Given the description of an element on the screen output the (x, y) to click on. 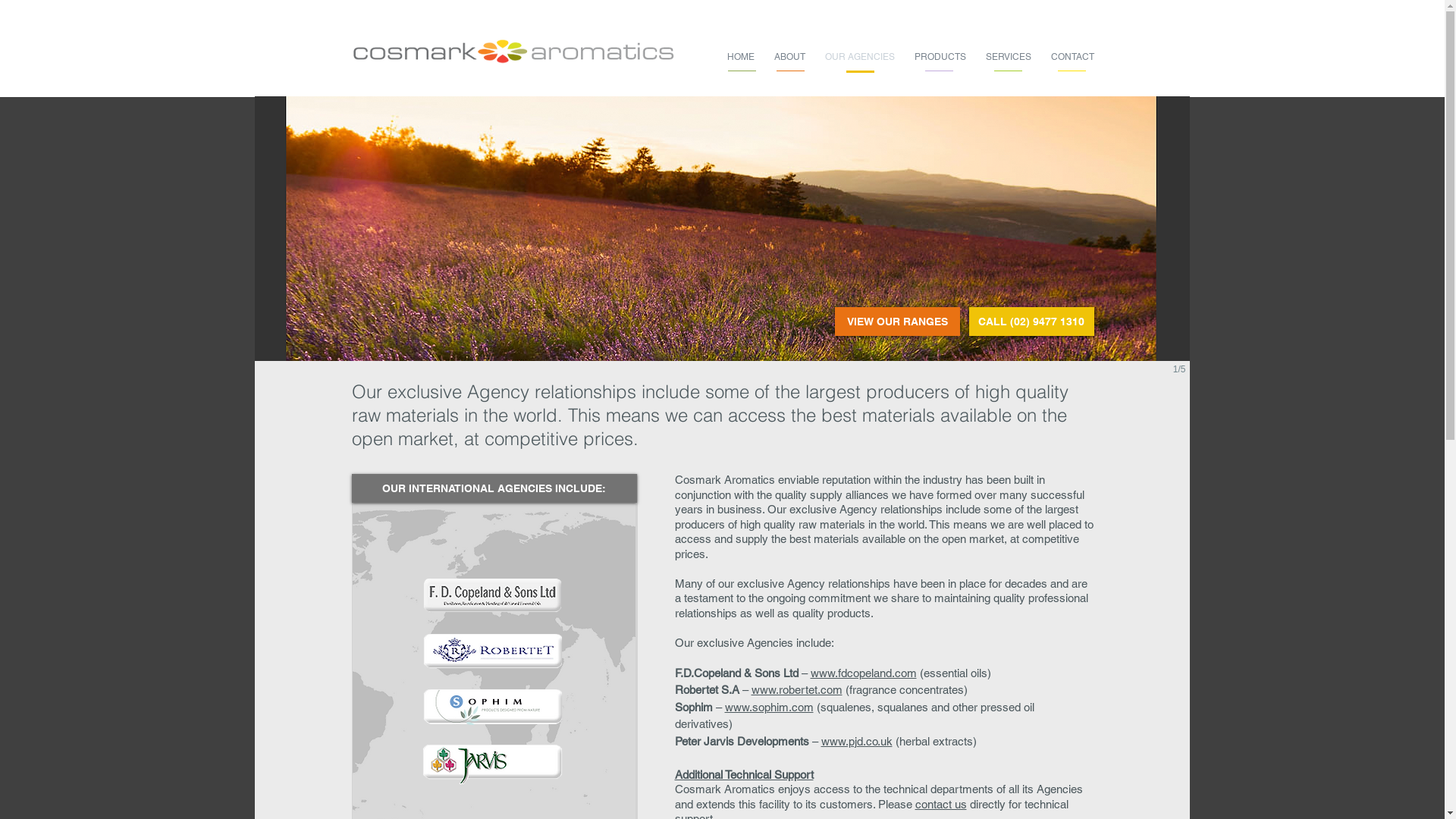
OUR AGENCIES Element type: text (858, 56)
CONTACT Element type: text (1071, 56)
www.fdcopeland.com Element type: text (862, 671)
contact us Element type: text (940, 803)
VIEW OUR RANGES Element type: text (896, 321)
Jarvis logo.png Element type: hover (492, 763)
Robertet logo.png Element type: hover (492, 650)
PRODUCTS Element type: text (939, 56)
HOME Element type: text (740, 56)
CALL (02) 9477 1310 Element type: text (1031, 321)
www.pjd.co.uk Element type: text (855, 740)
Sophim Logo.png Element type: hover (492, 705)
www.robertet.com Element type: text (795, 689)
www.sophim.com Element type: text (768, 706)
ABOUT Element type: text (789, 56)
SERVICES Element type: text (1007, 56)
